Given the description of an element on the screen output the (x, y) to click on. 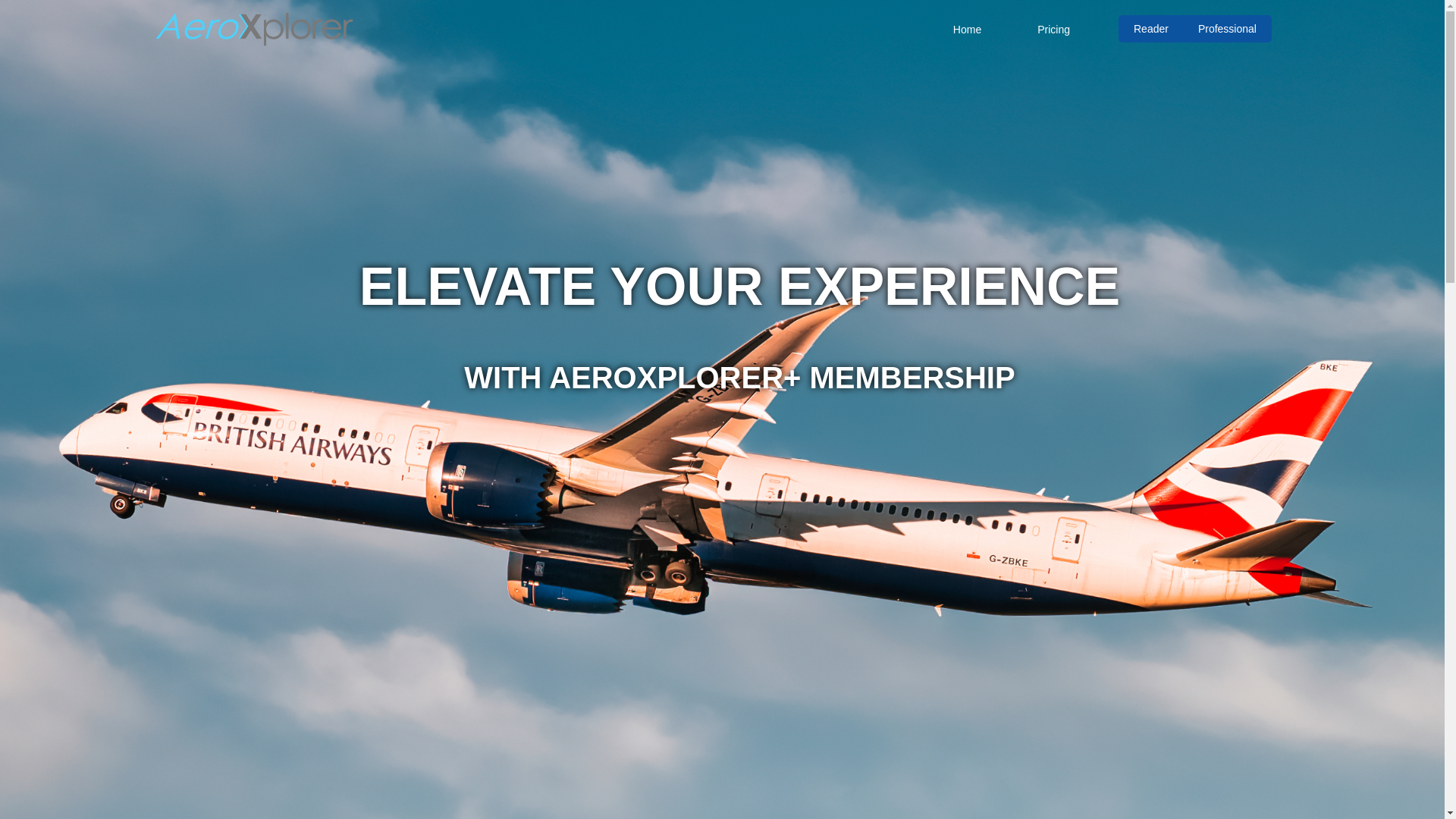
Pricing (1053, 29)
Reader (1150, 28)
Professional (1226, 28)
Home (966, 29)
